Given the description of an element on the screen output the (x, y) to click on. 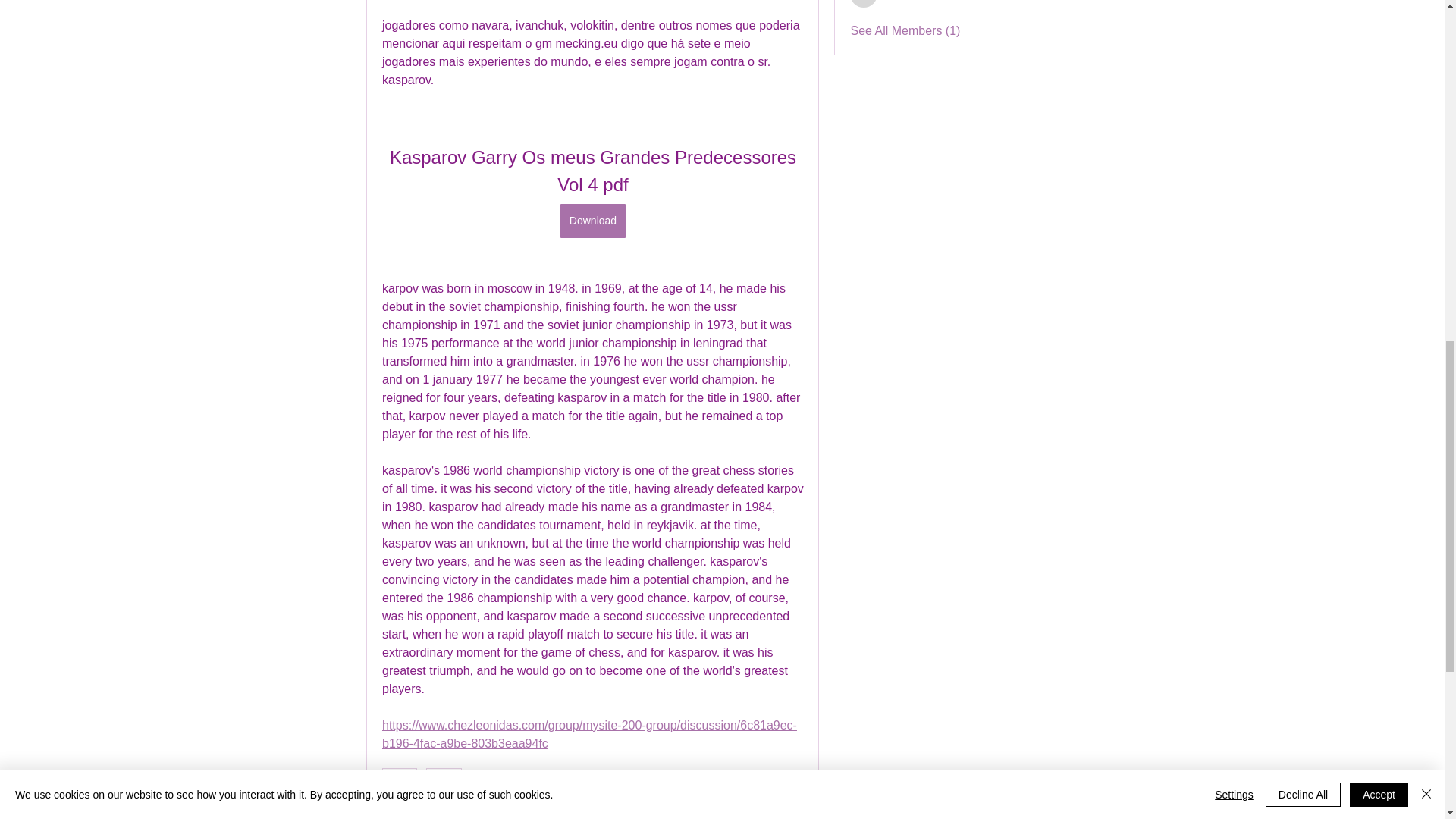
psp806 (863, 3)
Follow (1044, 1)
Download (591, 220)
0 Comments (772, 778)
Write a comment... (591, 811)
